Given the description of an element on the screen output the (x, y) to click on. 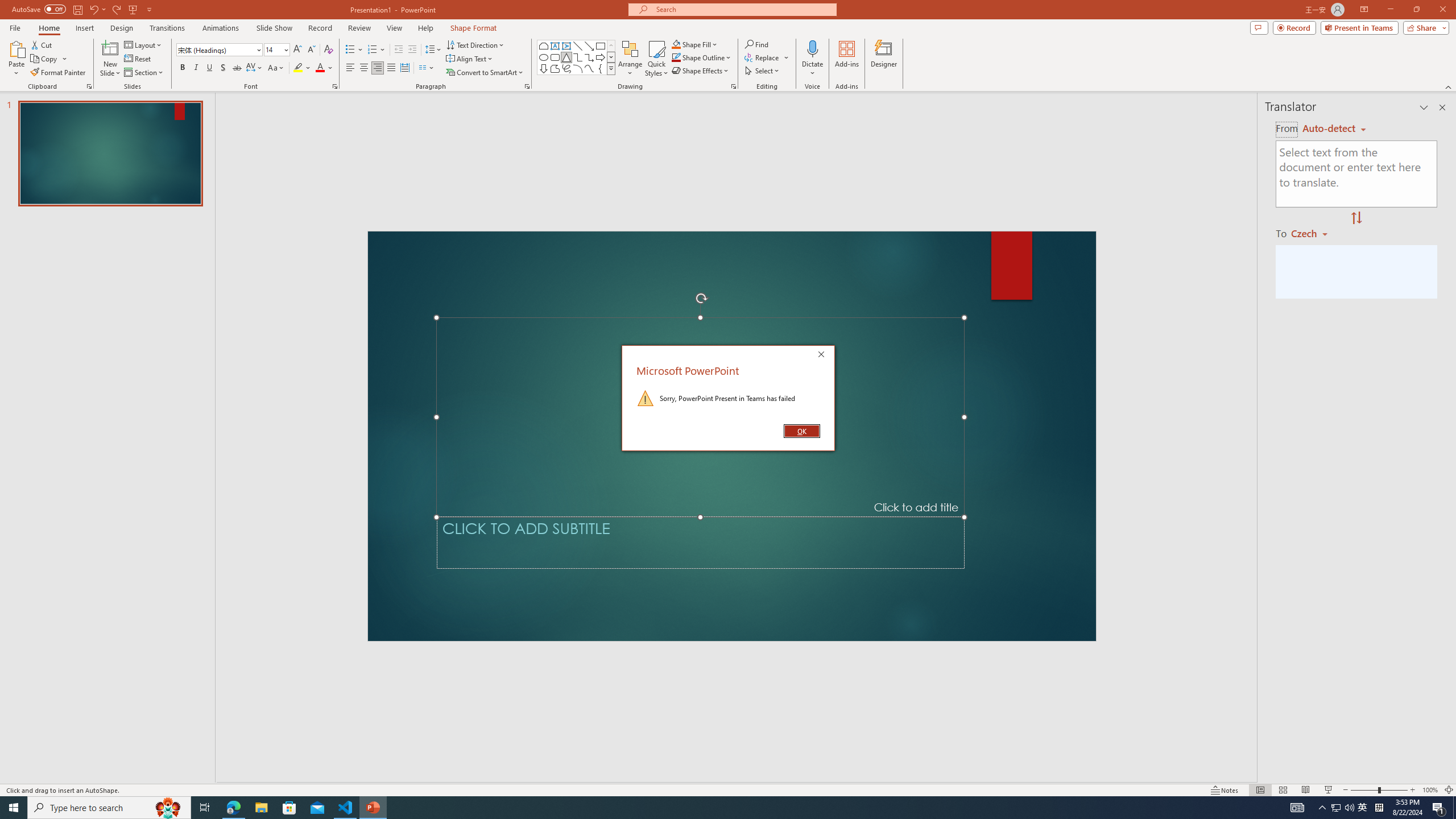
Shape Outline Blue, Accent 1 (675, 56)
